Given the description of an element on the screen output the (x, y) to click on. 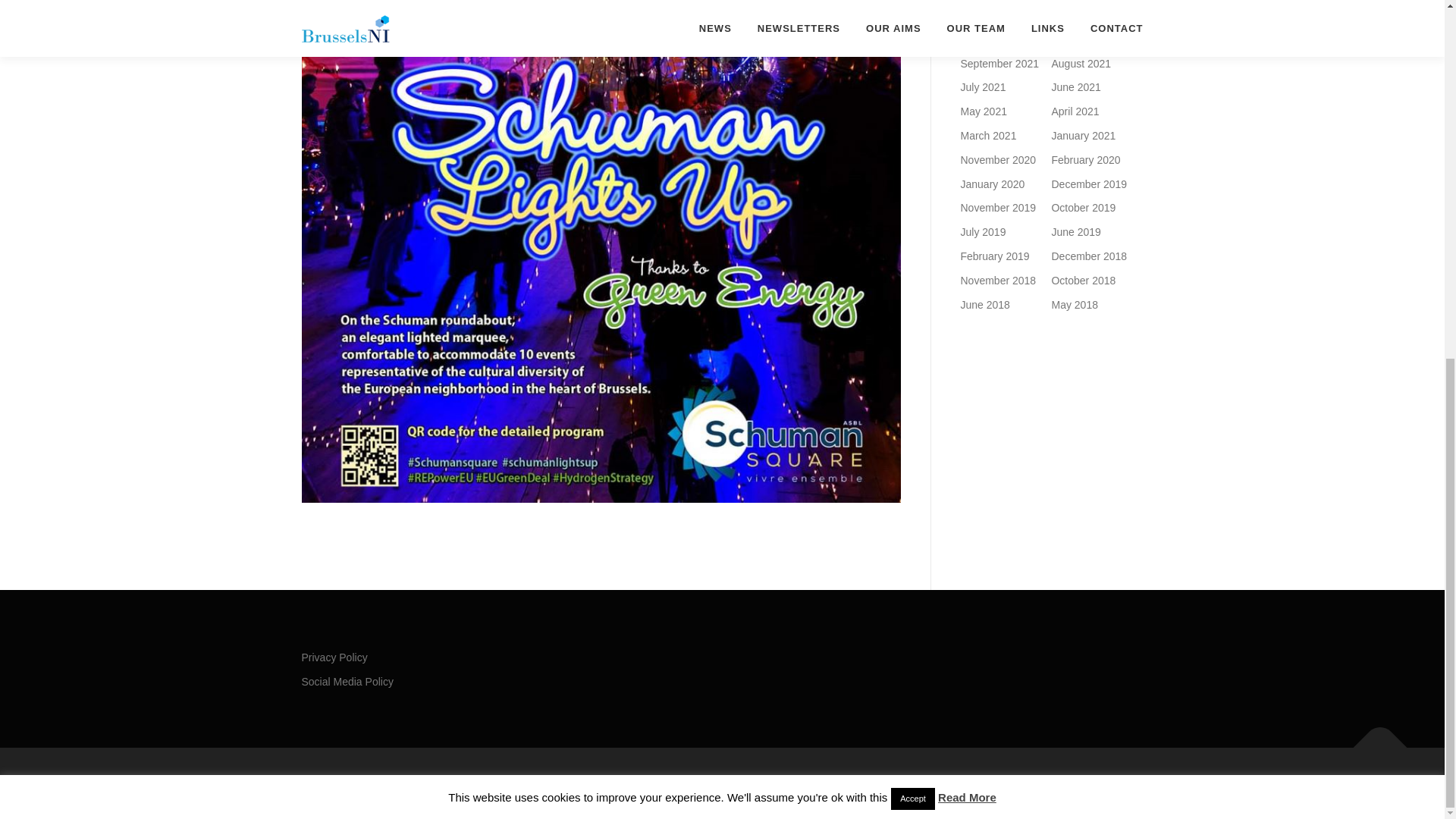
November 2021 (997, 39)
September 2021 (999, 63)
December 2021 (1088, 15)
August 2021 (1080, 63)
Back To Top (1372, 740)
January 2022 (992, 15)
October 2021 (1083, 39)
